Given the description of an element on the screen output the (x, y) to click on. 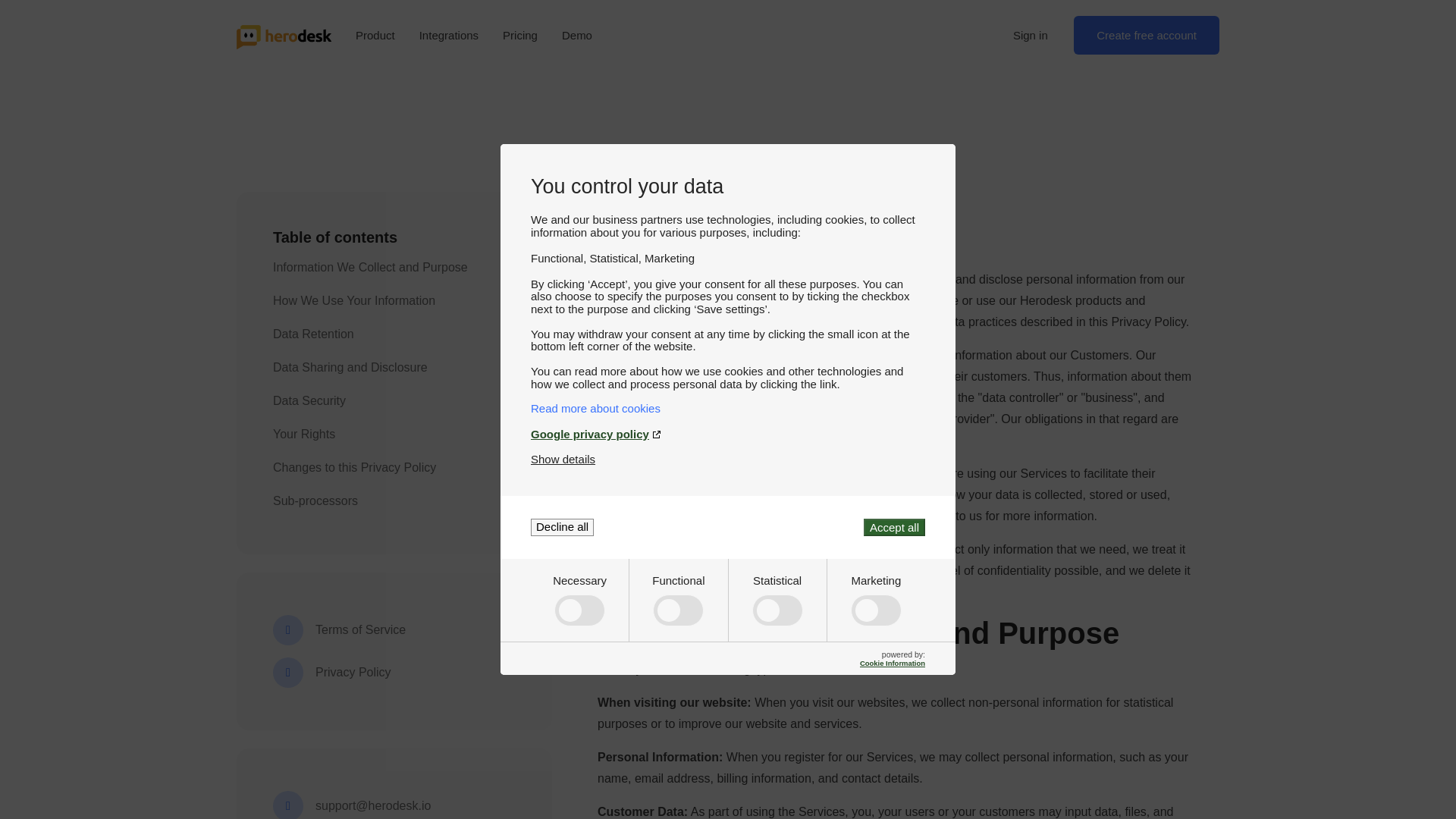
Decline all (562, 527)
Read more about cookies (727, 408)
Google privacy policy (727, 433)
Show details (563, 459)
